Given the description of an element on the screen output the (x, y) to click on. 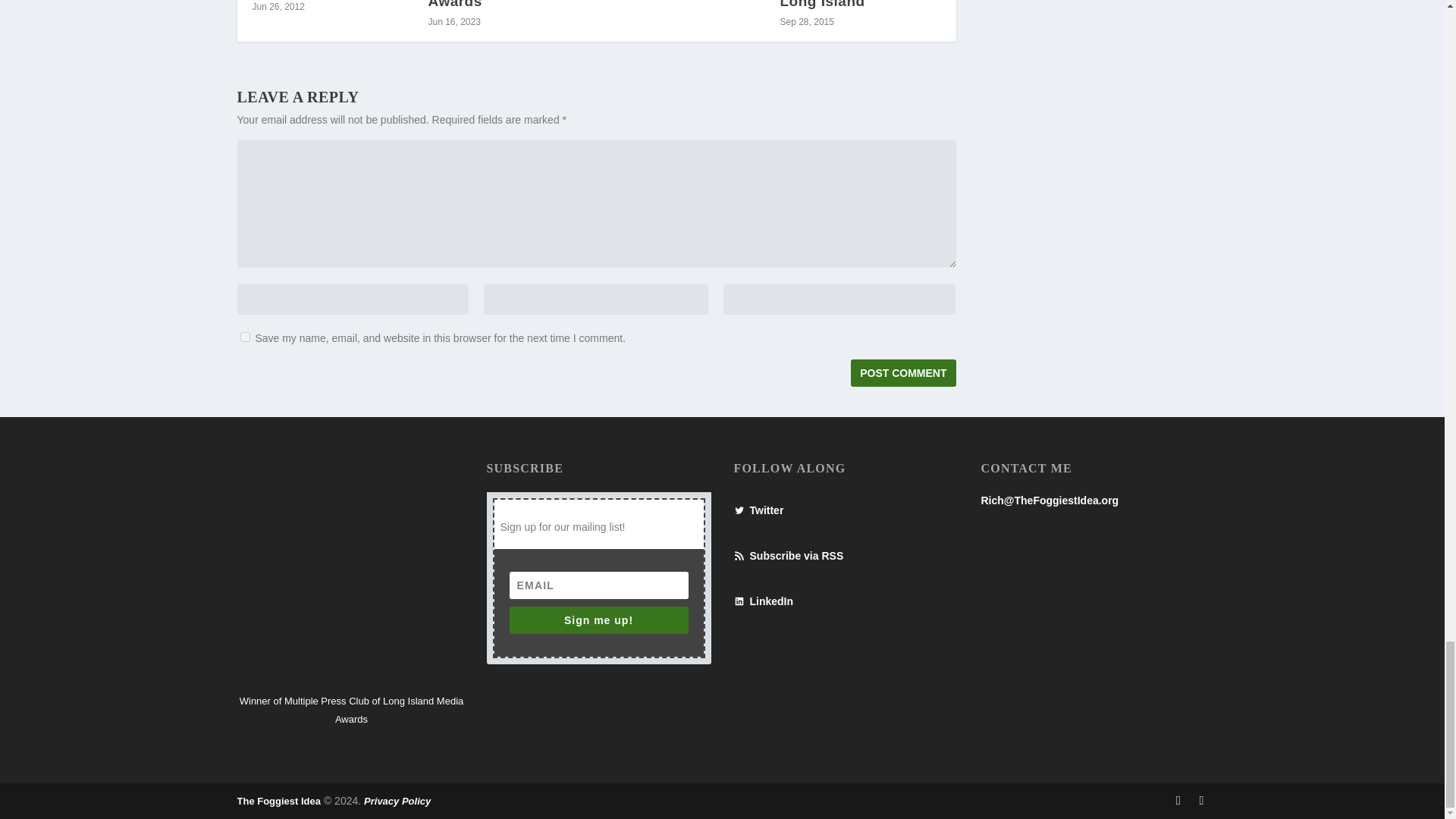
yes (244, 337)
Post Comment (902, 372)
